Given the description of an element on the screen output the (x, y) to click on. 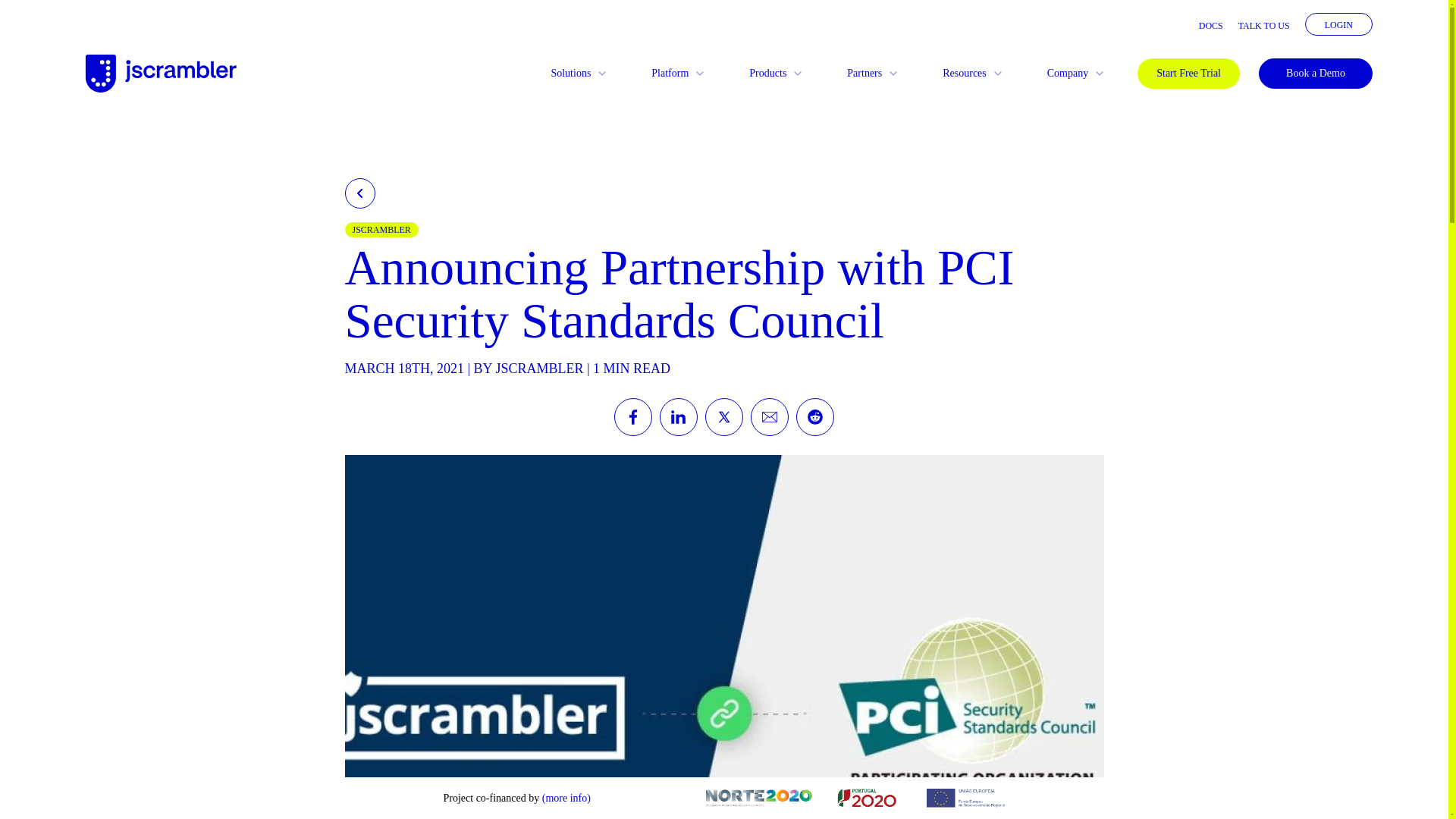
Solutions (579, 73)
Resources (973, 73)
Platform (679, 73)
Products (777, 73)
Partners (873, 73)
TALK TO US (1264, 25)
DOCS (1210, 25)
LOGIN (1338, 24)
